Given the description of an element on the screen output the (x, y) to click on. 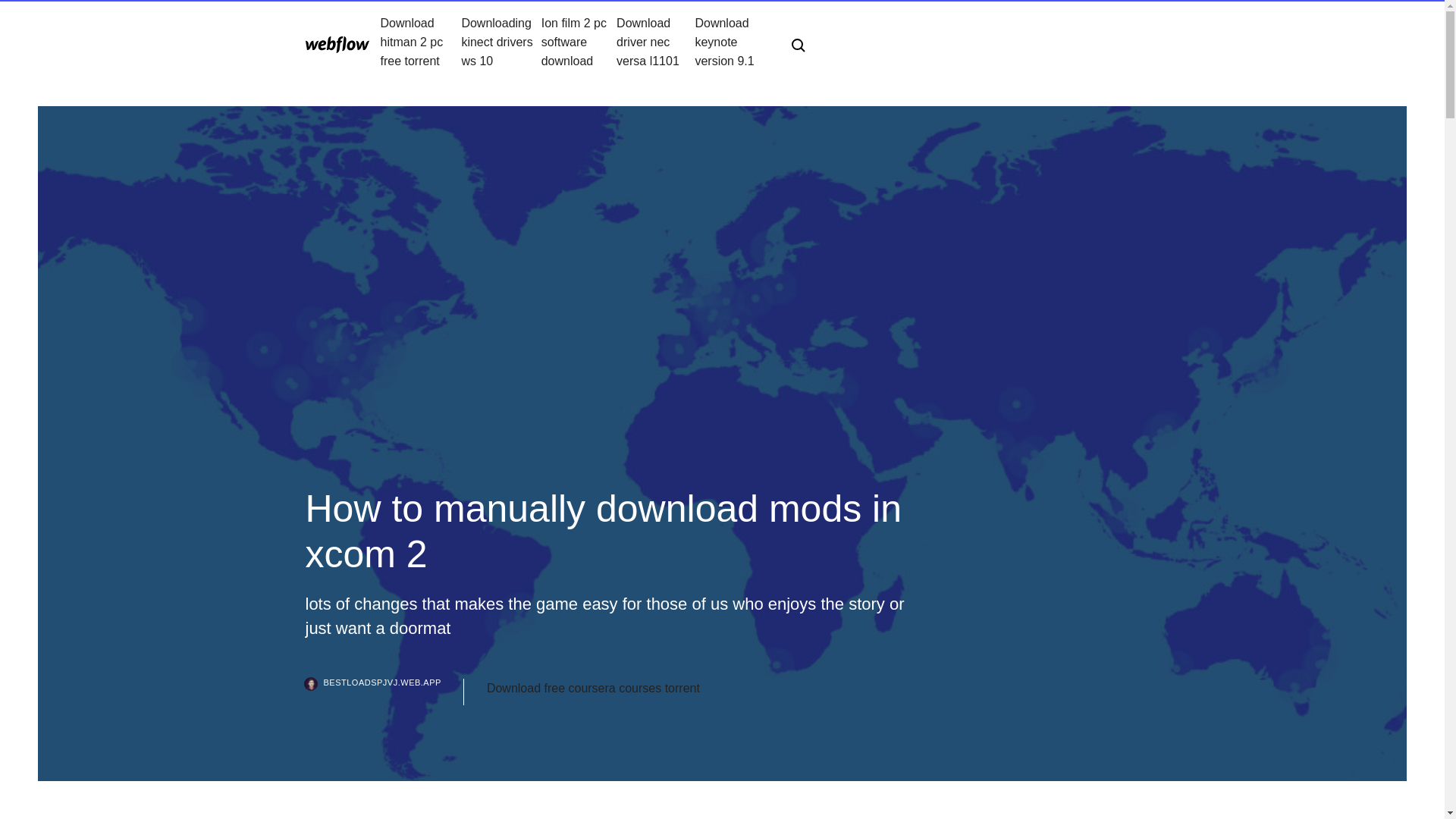
Download driver nec versa l1101 (654, 41)
Download free coursera courses torrent (593, 687)
Download keynote version 9.1 (730, 41)
Downloading kinect drivers ws 10 (500, 41)
Download hitman 2 pc free torrent (420, 41)
Ion film 2 pc software download (578, 41)
BESTLOADSPJVJ.WEB.APP (383, 691)
